Given the description of an element on the screen output the (x, y) to click on. 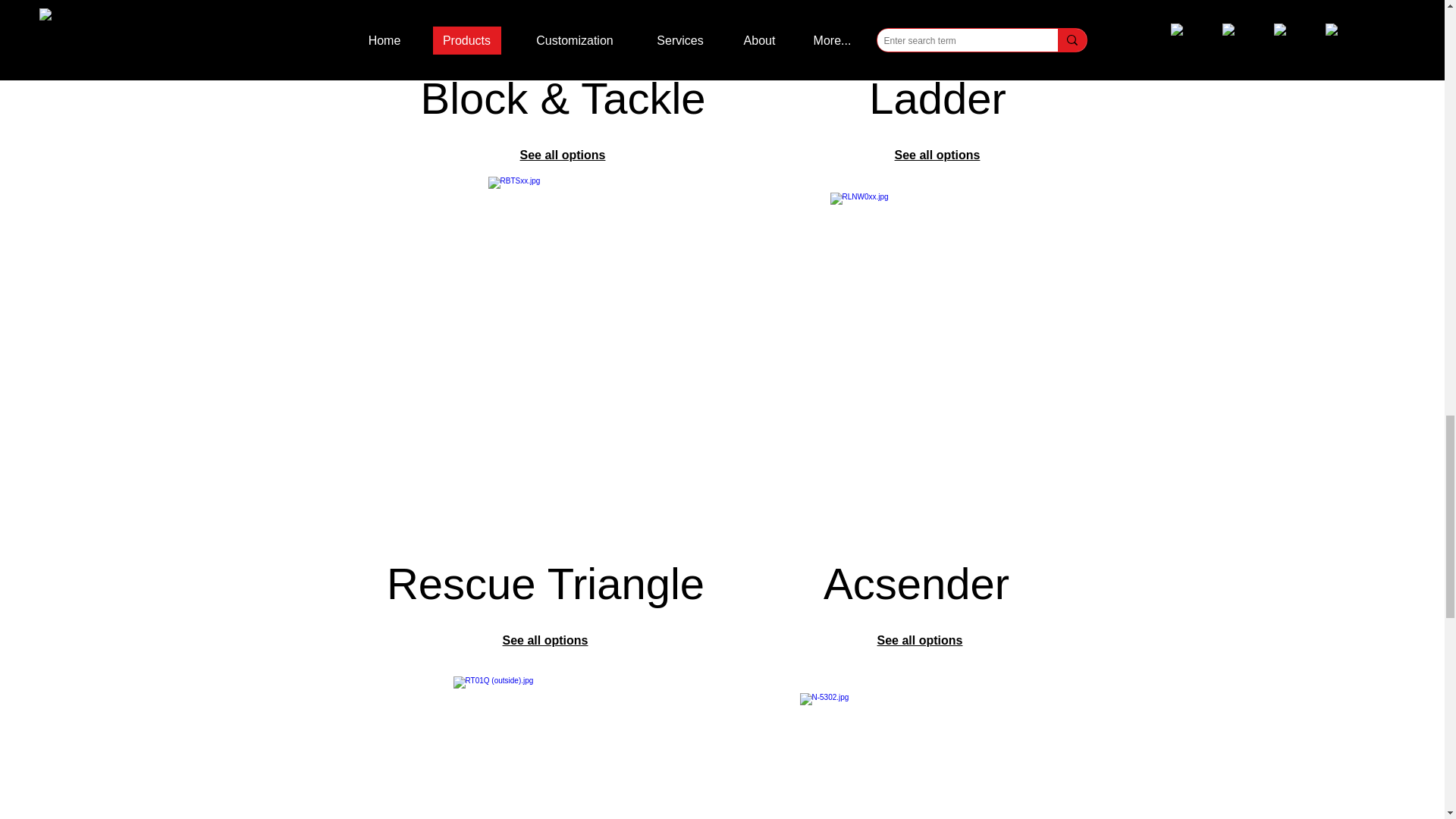
See all options (545, 640)
See all options (562, 154)
See all options (919, 640)
See all options (937, 154)
